Given the description of an element on the screen output the (x, y) to click on. 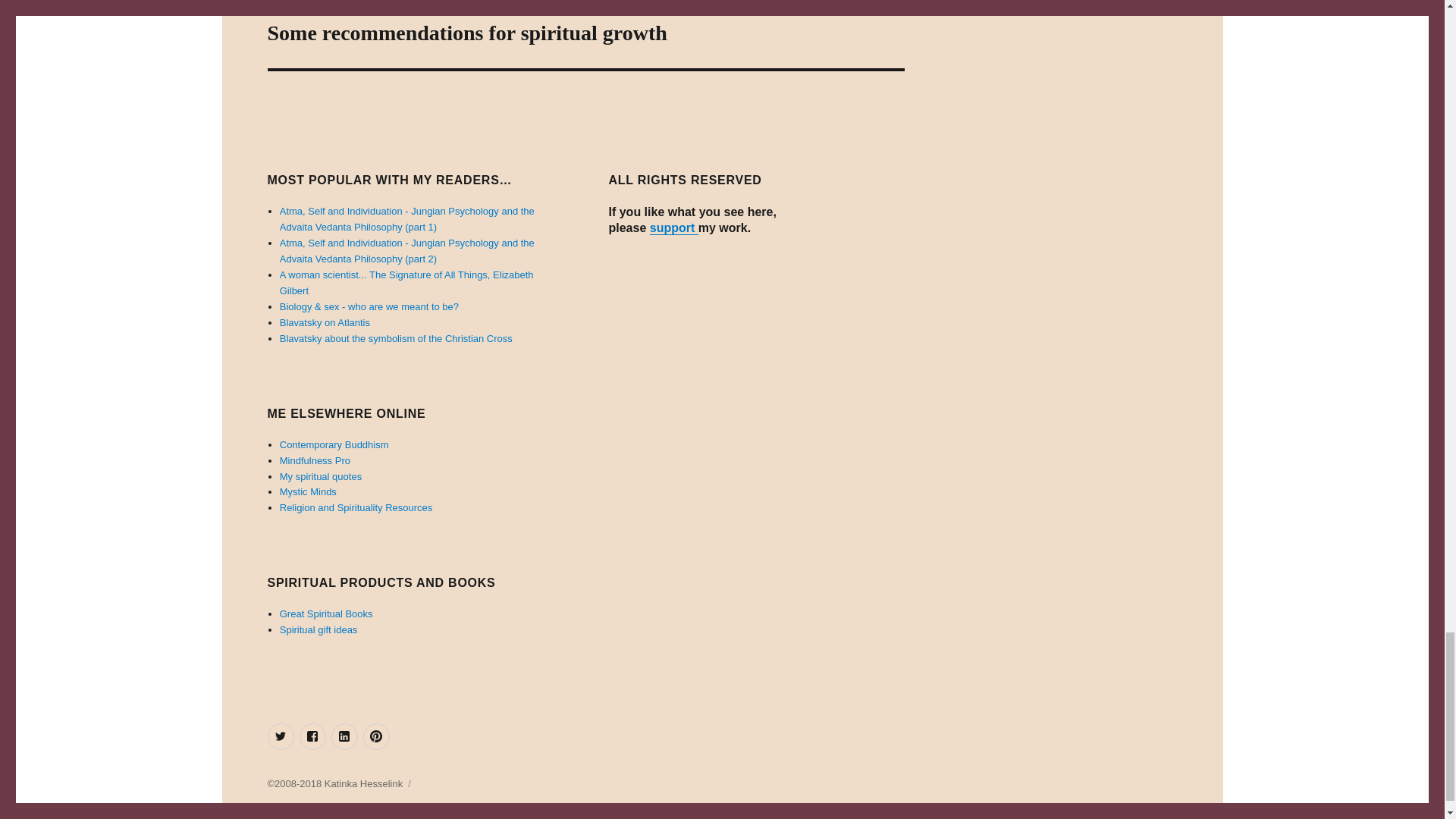
Blavatsky on Atlantis (324, 322)
Mindfulness Pro (585, 33)
Blavatsky about the symbolism of the Christian Cross (314, 460)
Mystic Minds (395, 337)
My spiritual quotes (307, 491)
Contemporary Buddhism (320, 476)
